Given the description of an element on the screen output the (x, y) to click on. 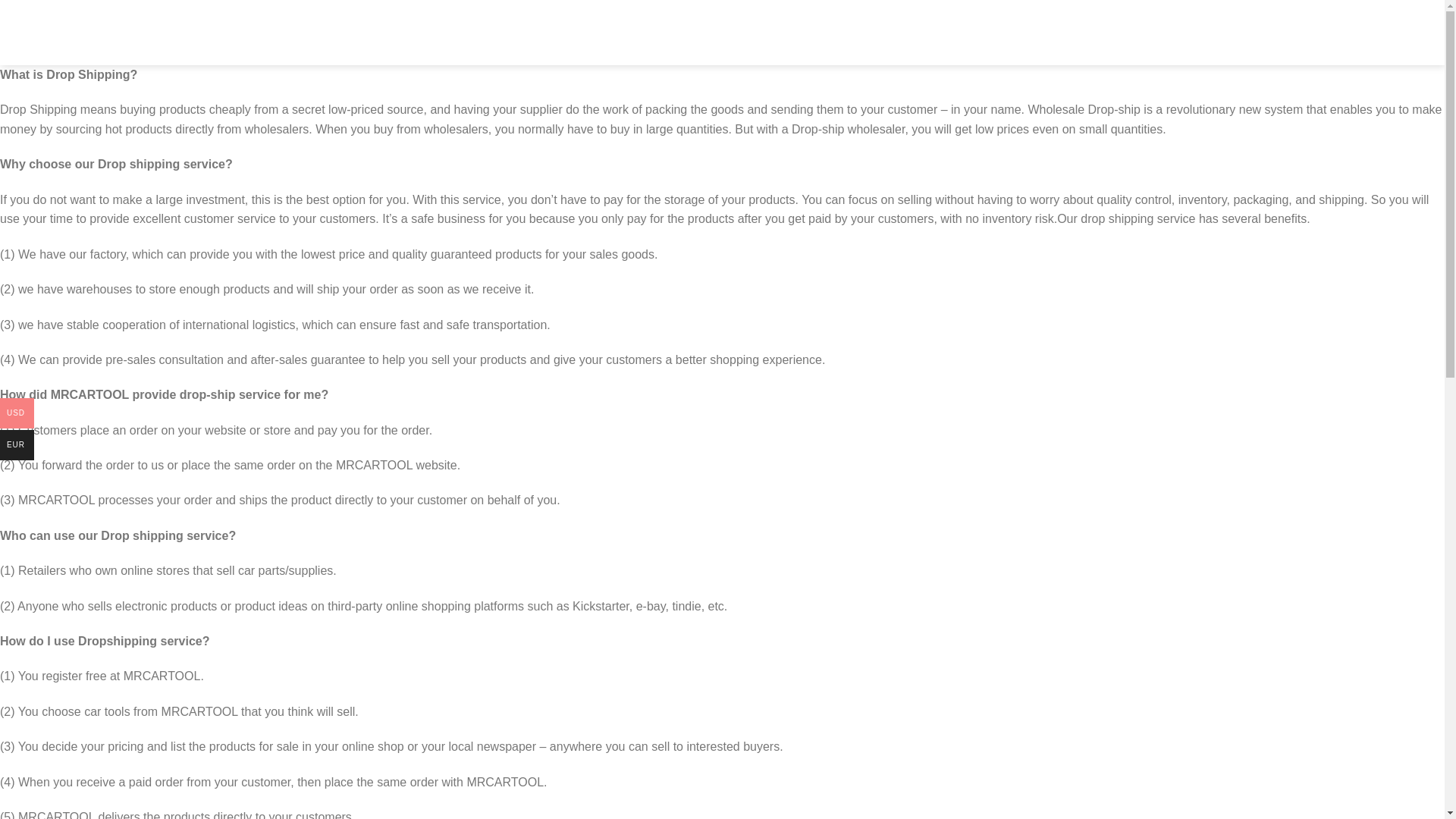
Home (545, 31)
About Us (802, 31)
EV Charging (612, 31)
Languages (1052, 31)
Inspection Tools (711, 31)
Login (987, 32)
Contact Us (874, 31)
Mrcartool - Mrcartool's official shop (416, 32)
